Given the description of an element on the screen output the (x, y) to click on. 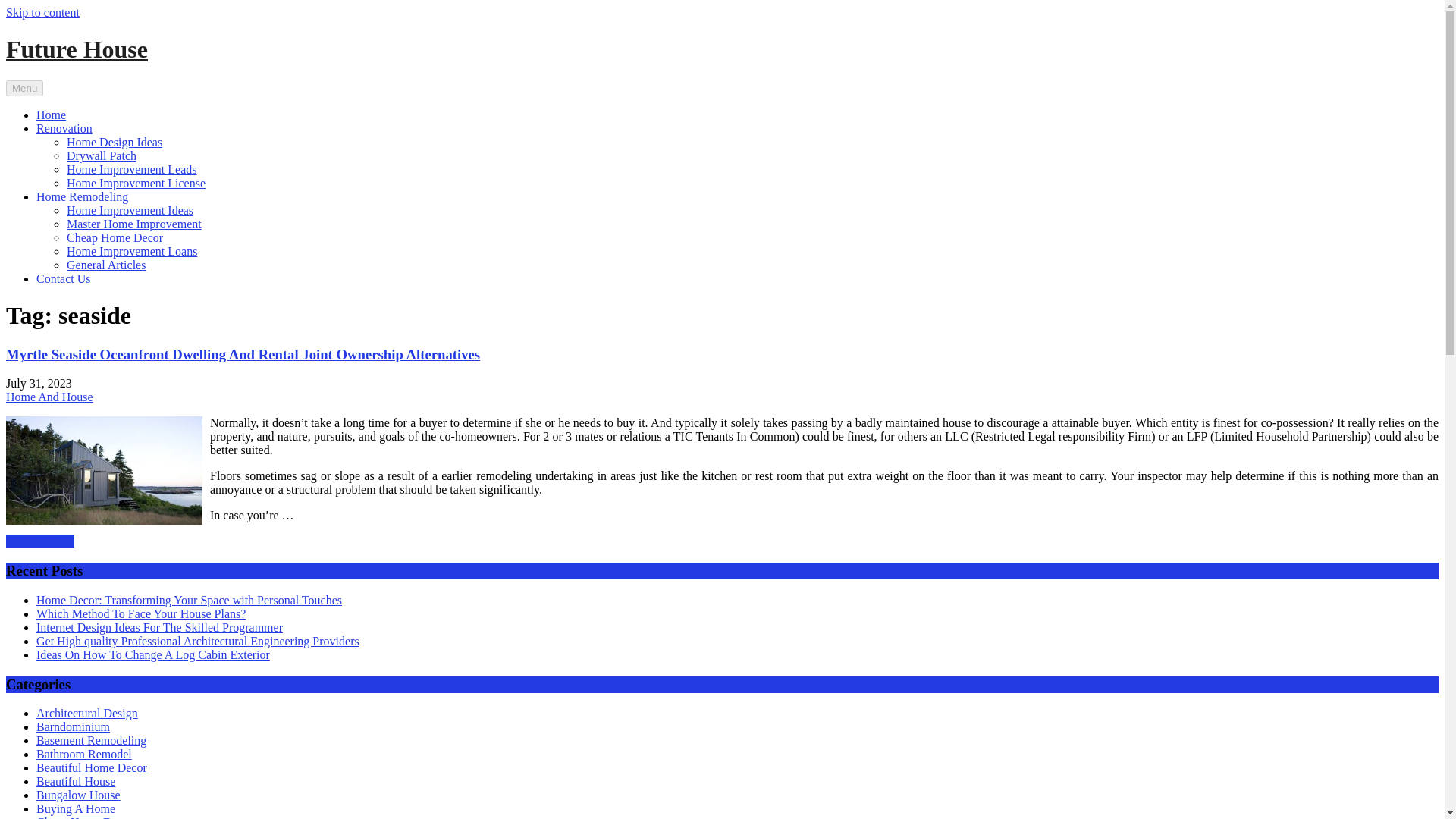
Cheap Home Decor (84, 817)
Renovation (64, 128)
Internet Design Ideas For The Skilled Programmer (159, 626)
Barndominium (73, 726)
Basement Remodeling (91, 739)
Home Improvement Ideas (129, 210)
General Articles (105, 264)
Home Improvement License (135, 182)
Cheap Home Decor (114, 237)
